Given the description of an element on the screen output the (x, y) to click on. 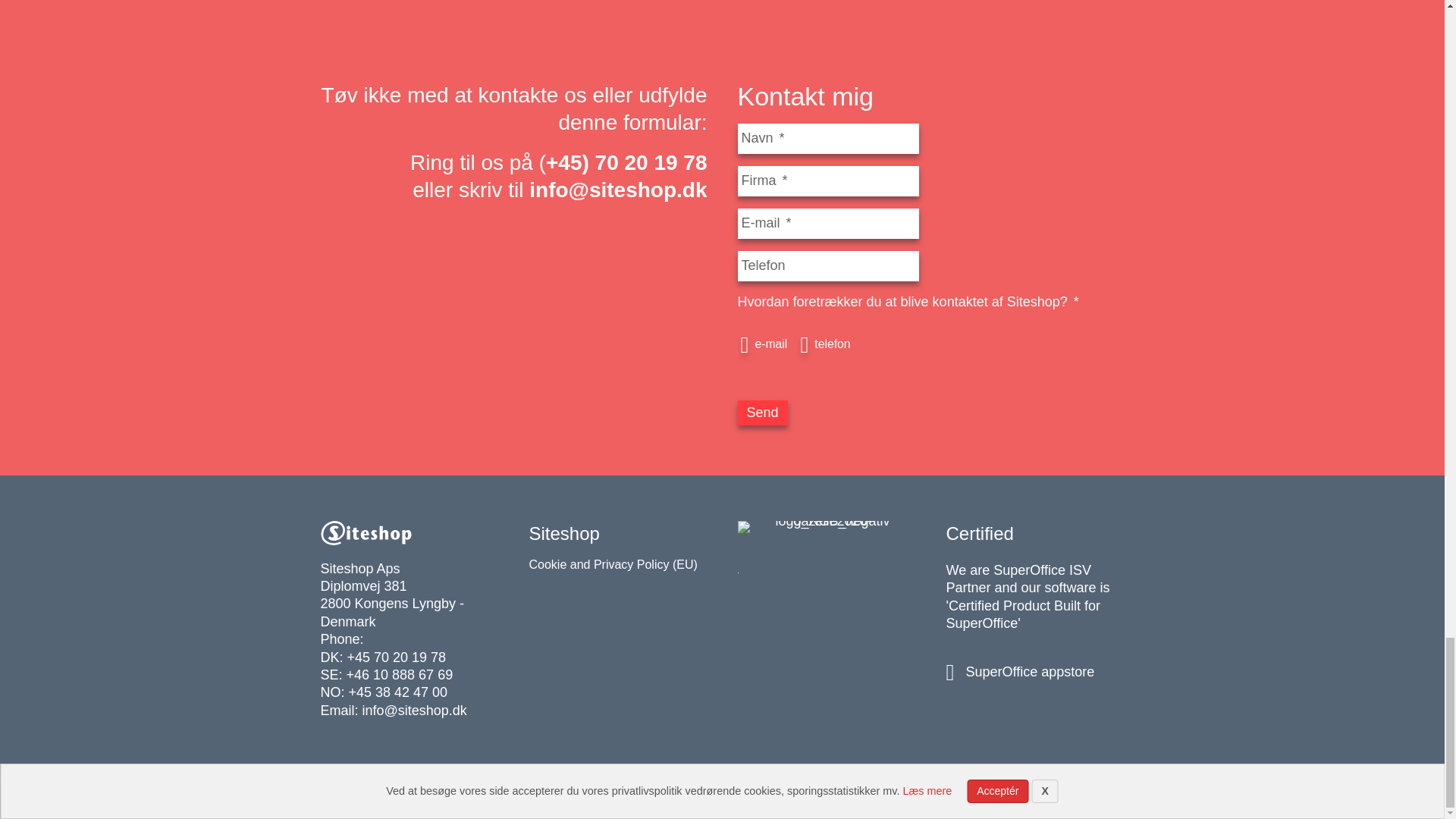
SuperOffice appstore (1029, 671)
Send (761, 412)
Send (761, 412)
